Given the description of an element on the screen output the (x, y) to click on. 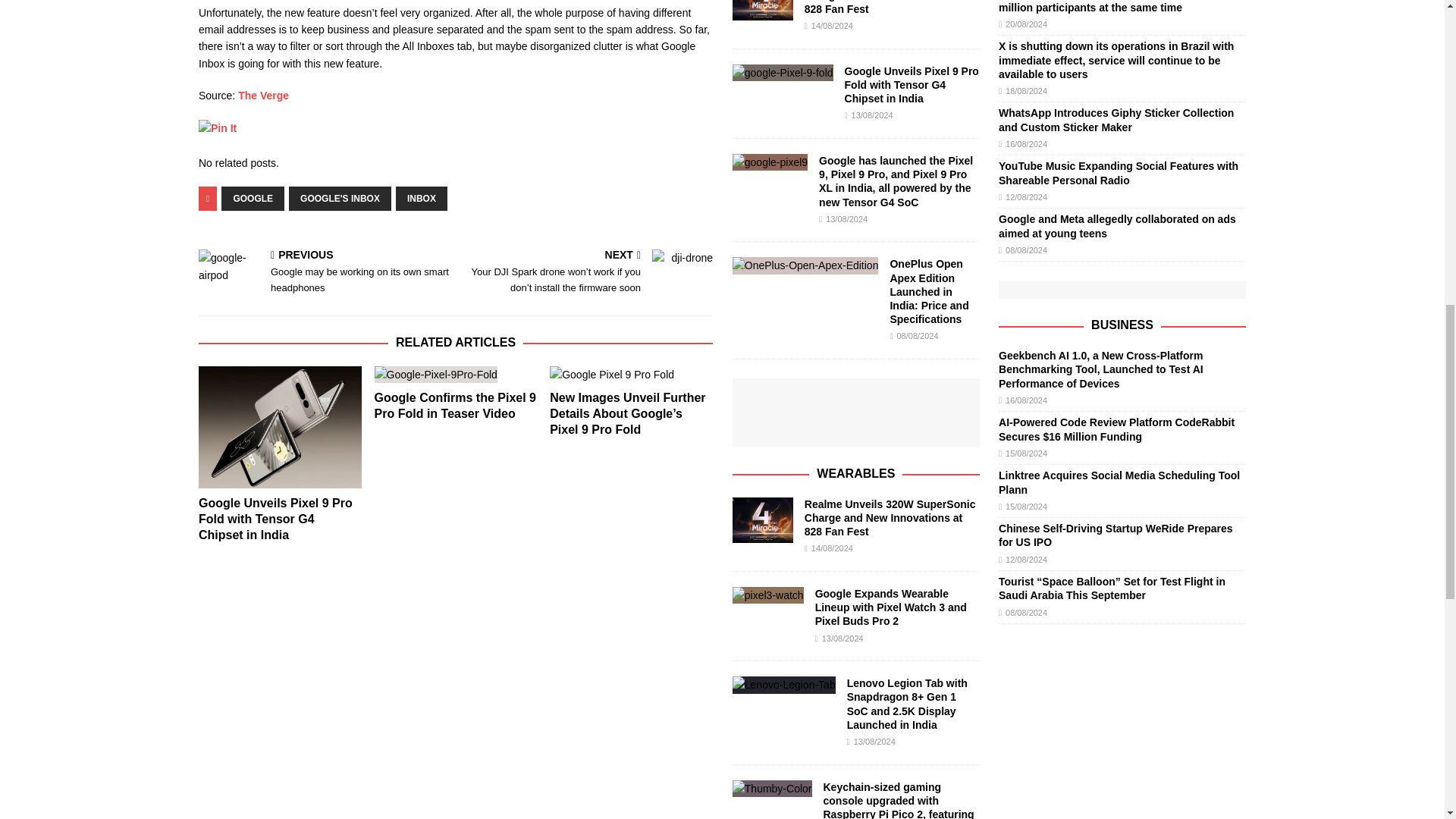
GOOGLE'S INBOX (339, 198)
GOOGLE (252, 198)
INBOX (421, 198)
The Verge (263, 95)
